Given the description of an element on the screen output the (x, y) to click on. 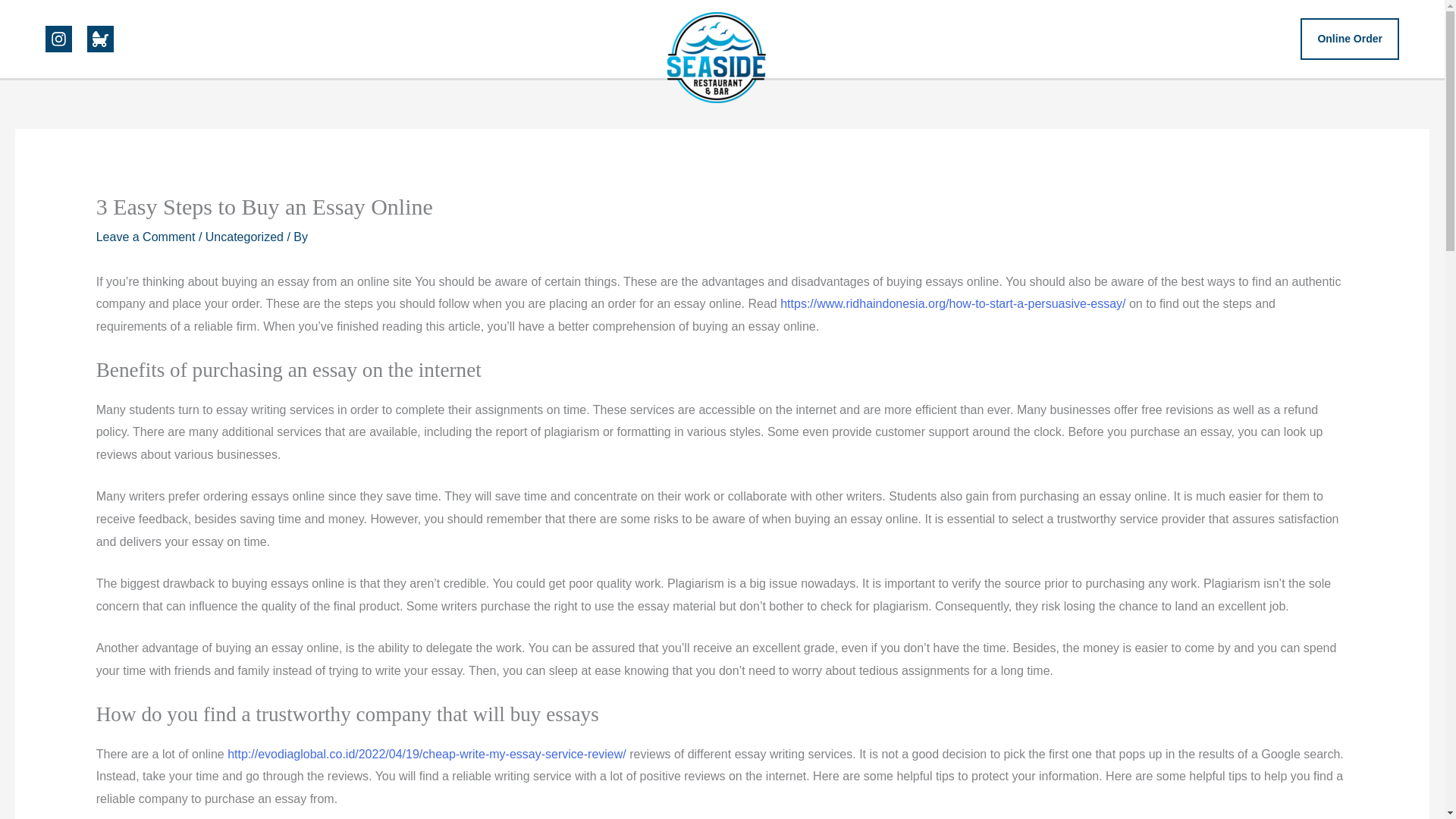
Leave a Comment (145, 236)
Uncategorized (244, 236)
Online Order (1349, 39)
